Given the description of an element on the screen output the (x, y) to click on. 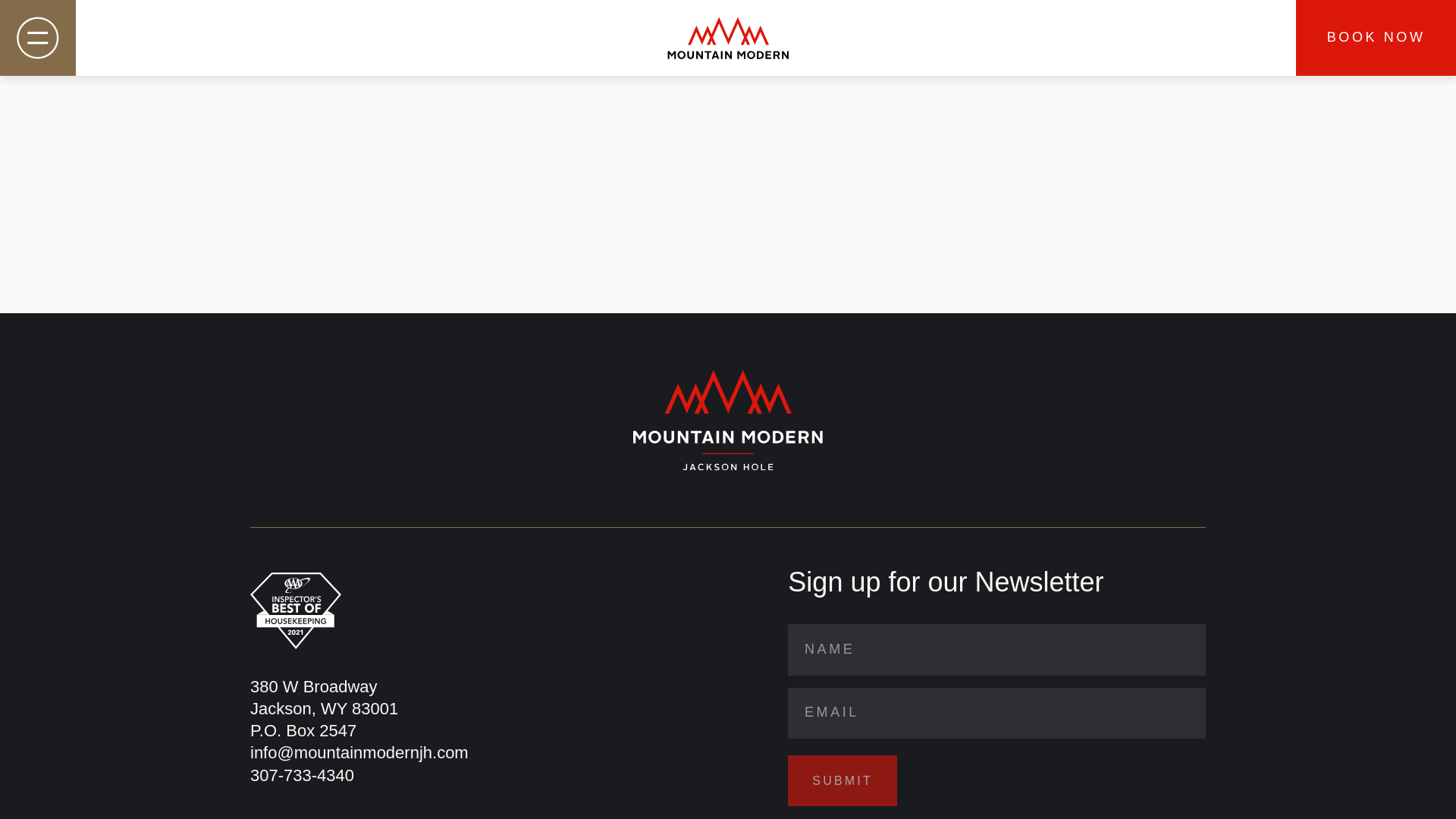
307-733-4340 (323, 708)
